Given the description of an element on the screen output the (x, y) to click on. 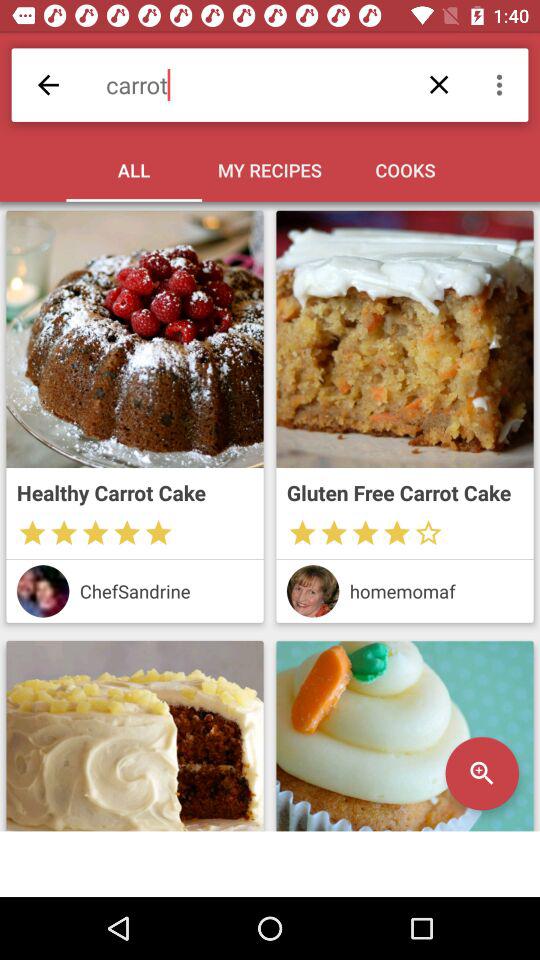
turn on item to the left of the carrot icon (48, 84)
